Given the description of an element on the screen output the (x, y) to click on. 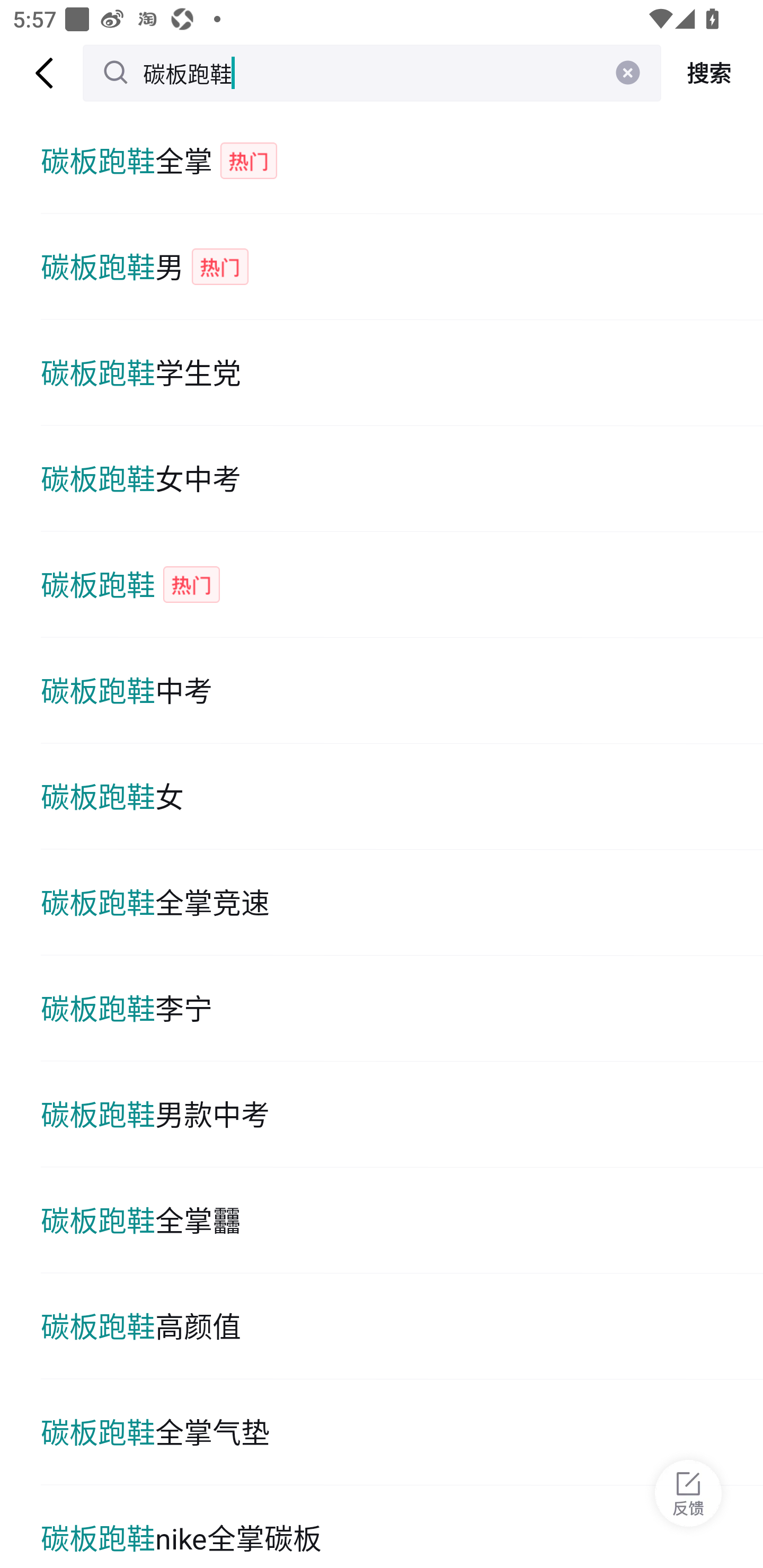
搜索 (712, 72)
碳板跑鞋 (371, 72)
碳板跑鞋全掌 (401, 160)
碳板跑鞋男 (401, 266)
碳板跑鞋学生党 (401, 372)
碳板跑鞋女中考 (401, 478)
碳板跑鞋 (401, 584)
碳板跑鞋中考 (401, 690)
碳板跑鞋女 (401, 796)
碳板跑鞋全掌竞速 (401, 901)
碳板跑鞋李宁 (401, 1007)
碳板跑鞋男款中考 (401, 1114)
碳板跑鞋全掌䨻 (401, 1220)
碳板跑鞋高颜值 (401, 1326)
碳板跑鞋全掌气垫 (401, 1431)
碳板跑鞋nike全掌碳板 (401, 1526)
